Given the description of an element on the screen output the (x, y) to click on. 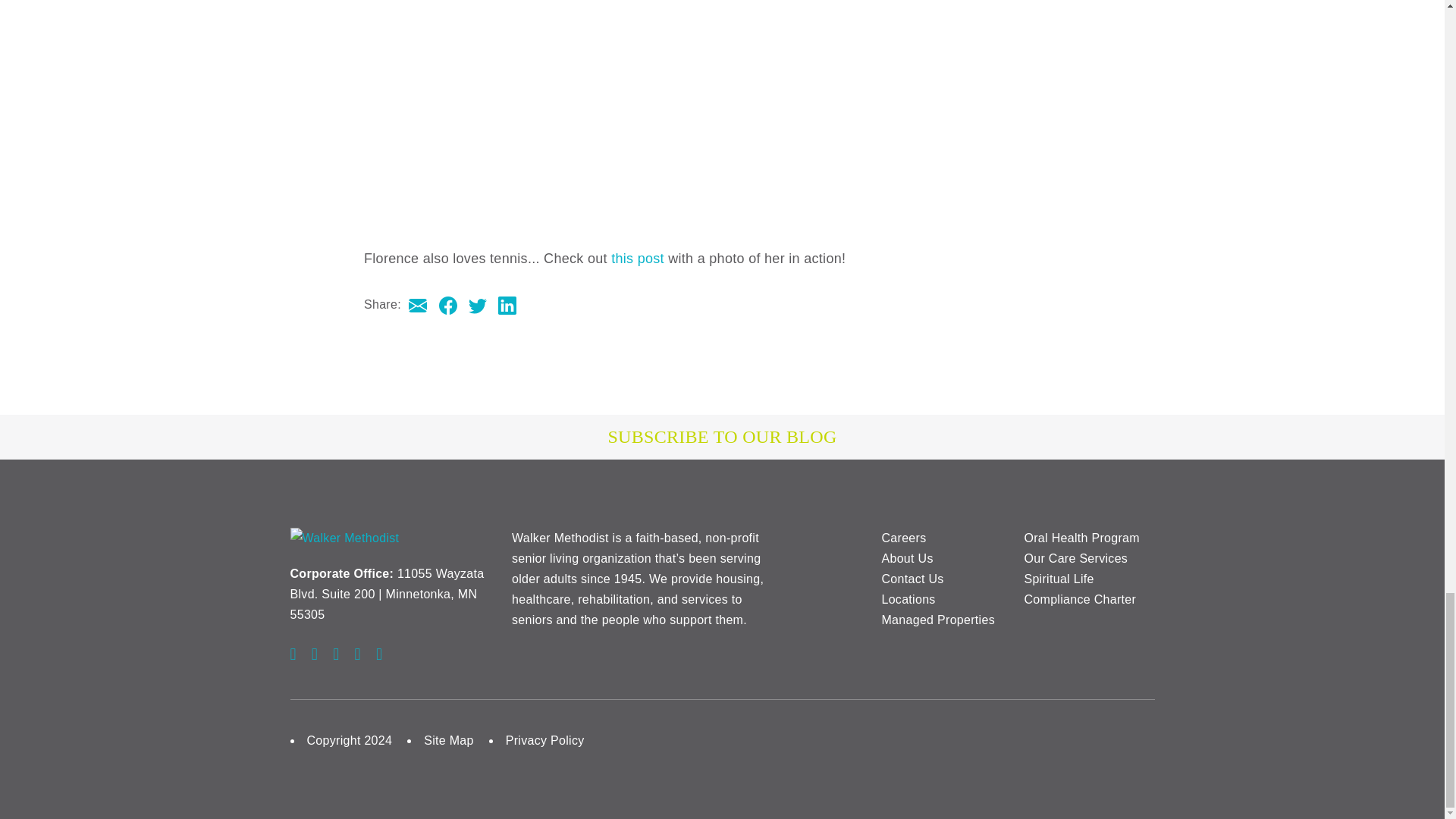
linkedin (507, 304)
